Given the description of an element on the screen output the (x, y) to click on. 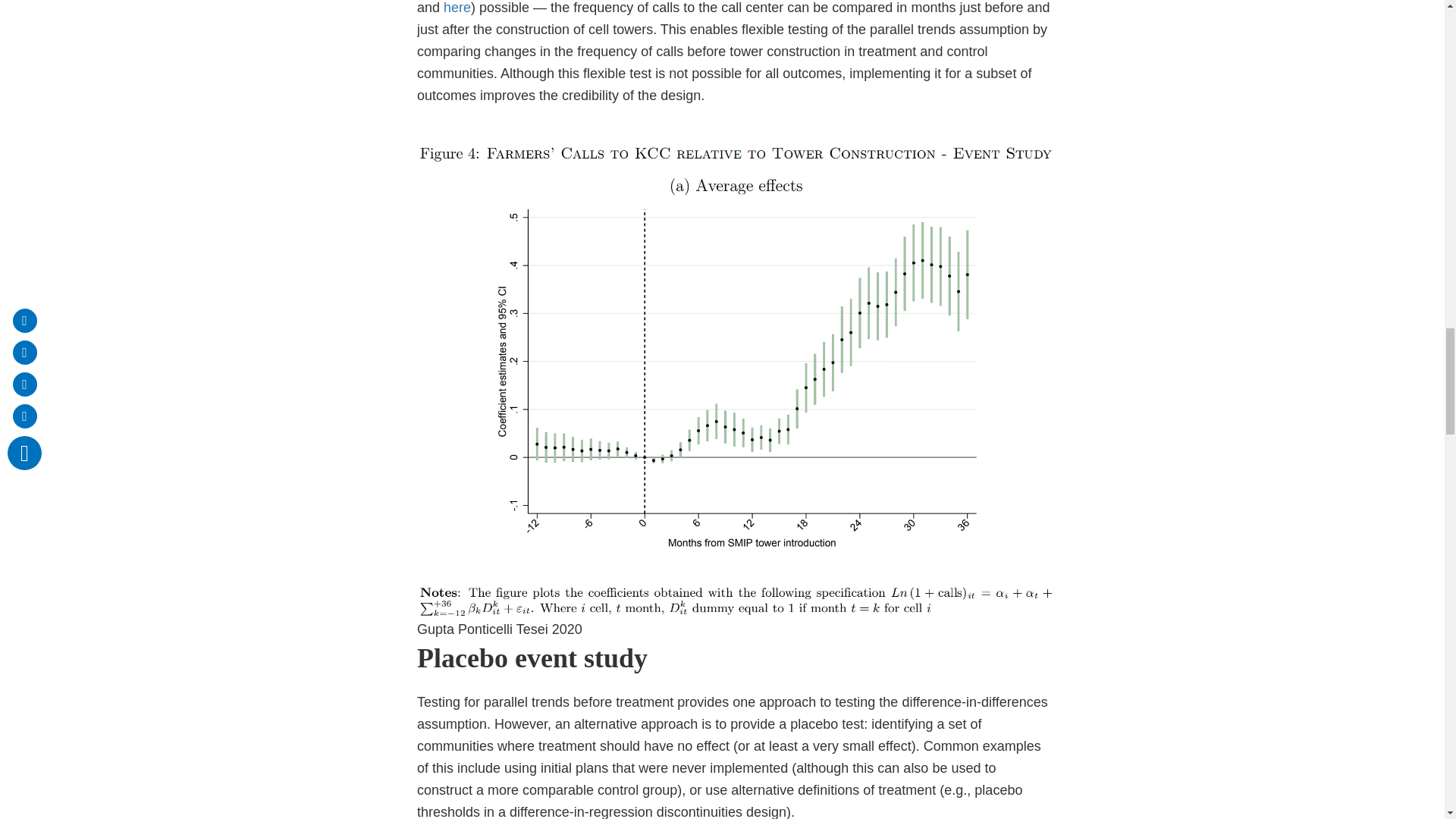
here (457, 7)
